Given the description of an element on the screen output the (x, y) to click on. 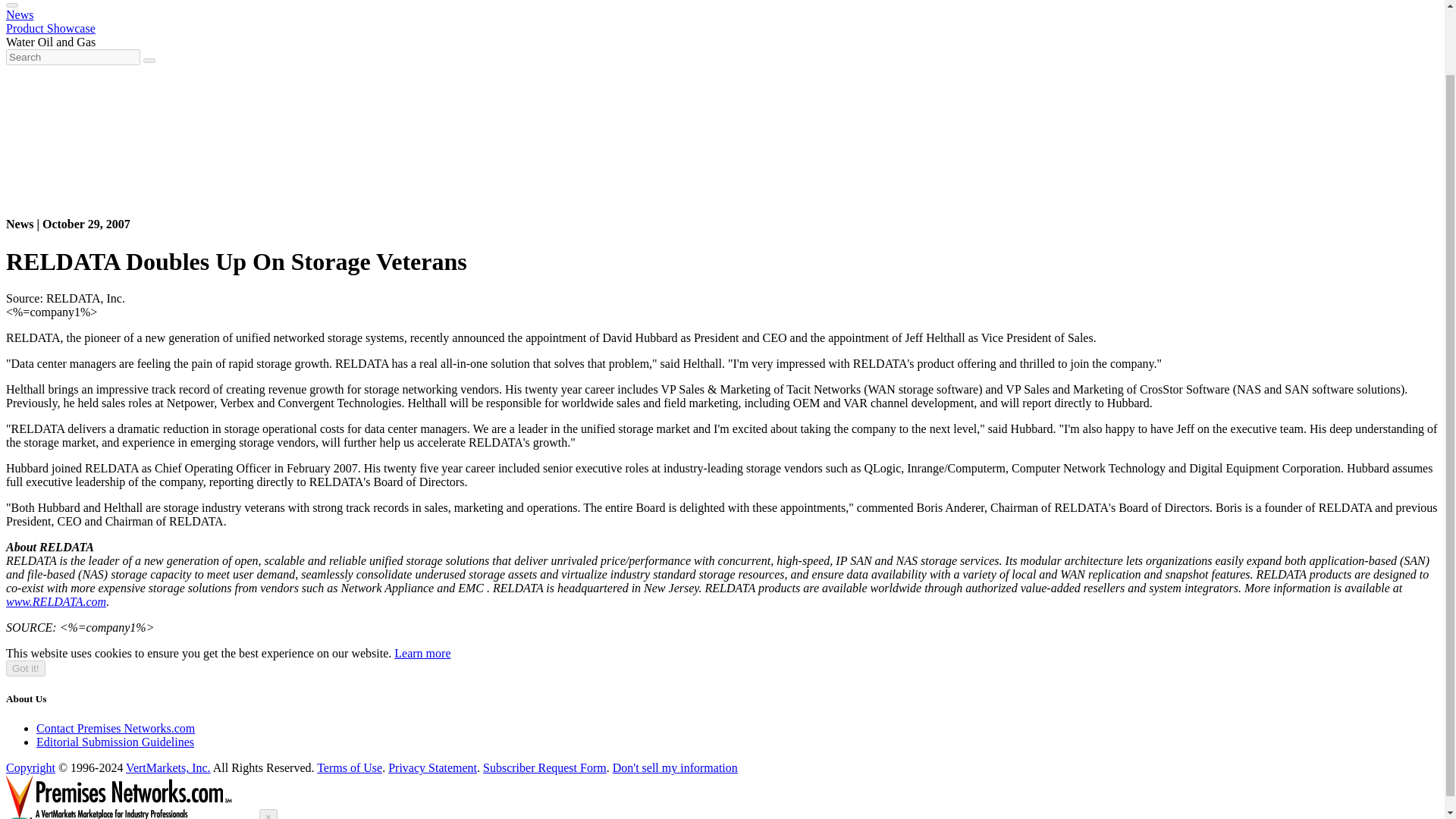
Contact Premises Networks.com (115, 727)
Don't sell my information (675, 767)
Oil and Gas (66, 42)
3rd party ad content (92, 167)
www.RELDATA.com (55, 601)
3rd party ad content (281, 99)
Product Showcase (50, 28)
Water (19, 42)
Copyright (30, 767)
Privacy Statement (432, 767)
Got it! (25, 668)
News (19, 14)
Editorial Submission Guidelines (114, 741)
Learn more (421, 653)
Terms of Use (349, 767)
